Given the description of an element on the screen output the (x, y) to click on. 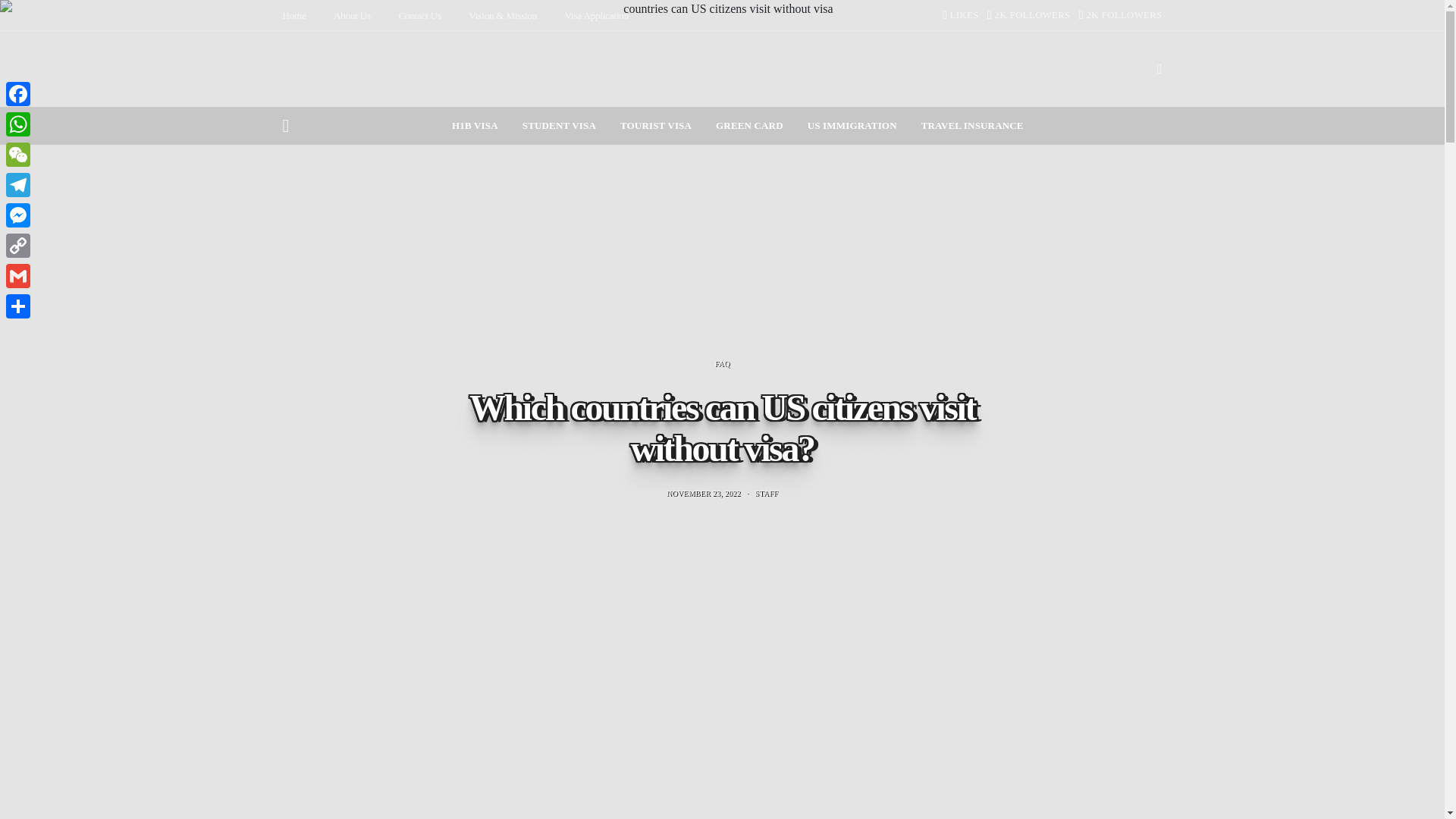
View all posts by Staff (766, 492)
Home (293, 15)
About Us (352, 15)
